Given the description of an element on the screen output the (x, y) to click on. 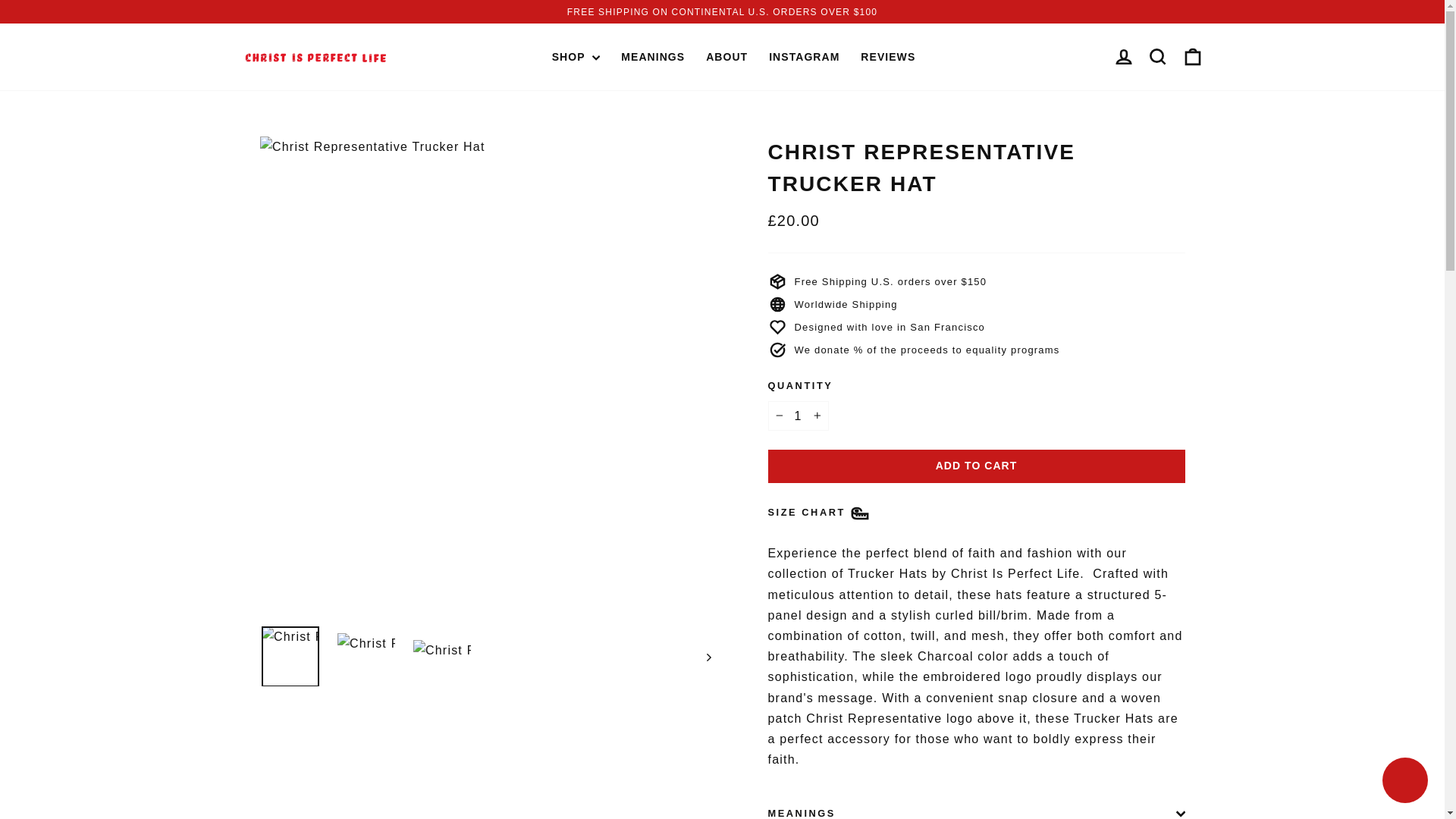
ABOUT (726, 56)
REVIEWS (888, 56)
Shopify online store chat (1404, 781)
INSTAGRAM (804, 56)
LOG IN (1123, 56)
1 (797, 415)
MEANINGS (652, 56)
SEARCH (1157, 56)
SHOP (576, 56)
